Given the description of an element on the screen output the (x, y) to click on. 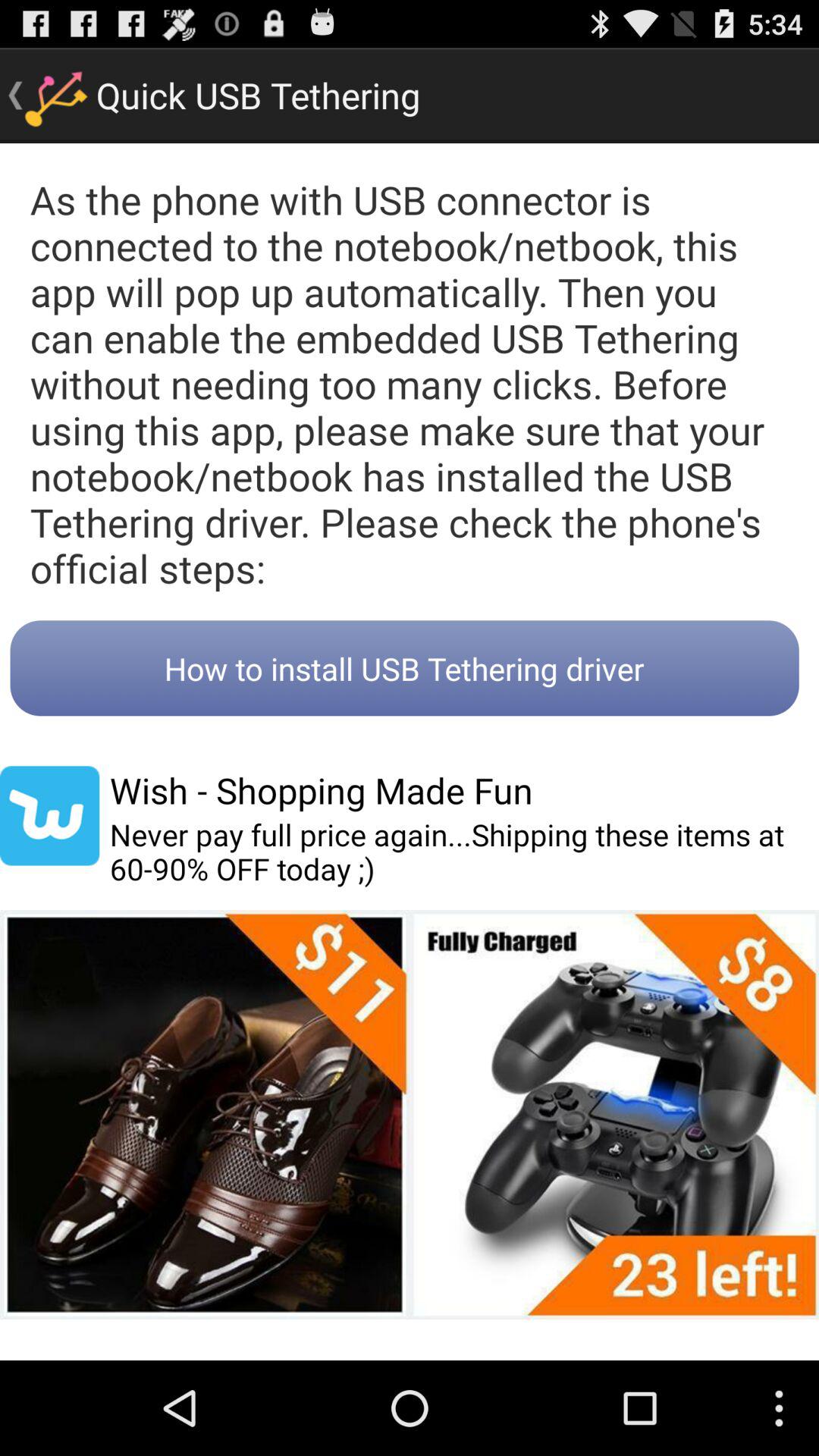
turn off icon below as the phone icon (404, 668)
